Given the description of an element on the screen output the (x, y) to click on. 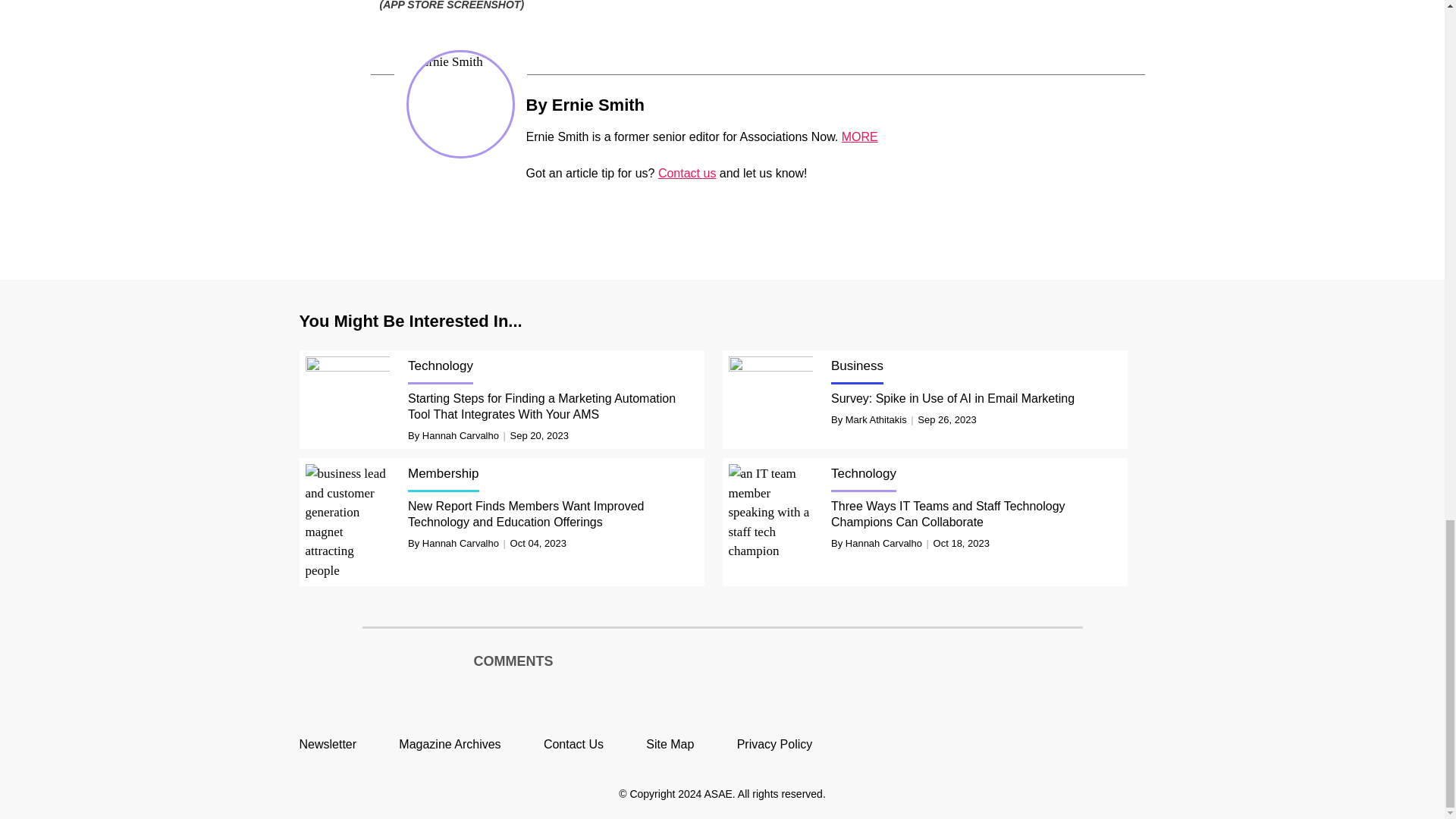
Visit us onFacebook (1063, 743)
Mail (659, 103)
MORE (859, 136)
Visit us onTwitter (1029, 743)
Rss Feel (1133, 743)
Email (659, 103)
Visit us onLinkedIn (1098, 743)
